Given the description of an element on the screen output the (x, y) to click on. 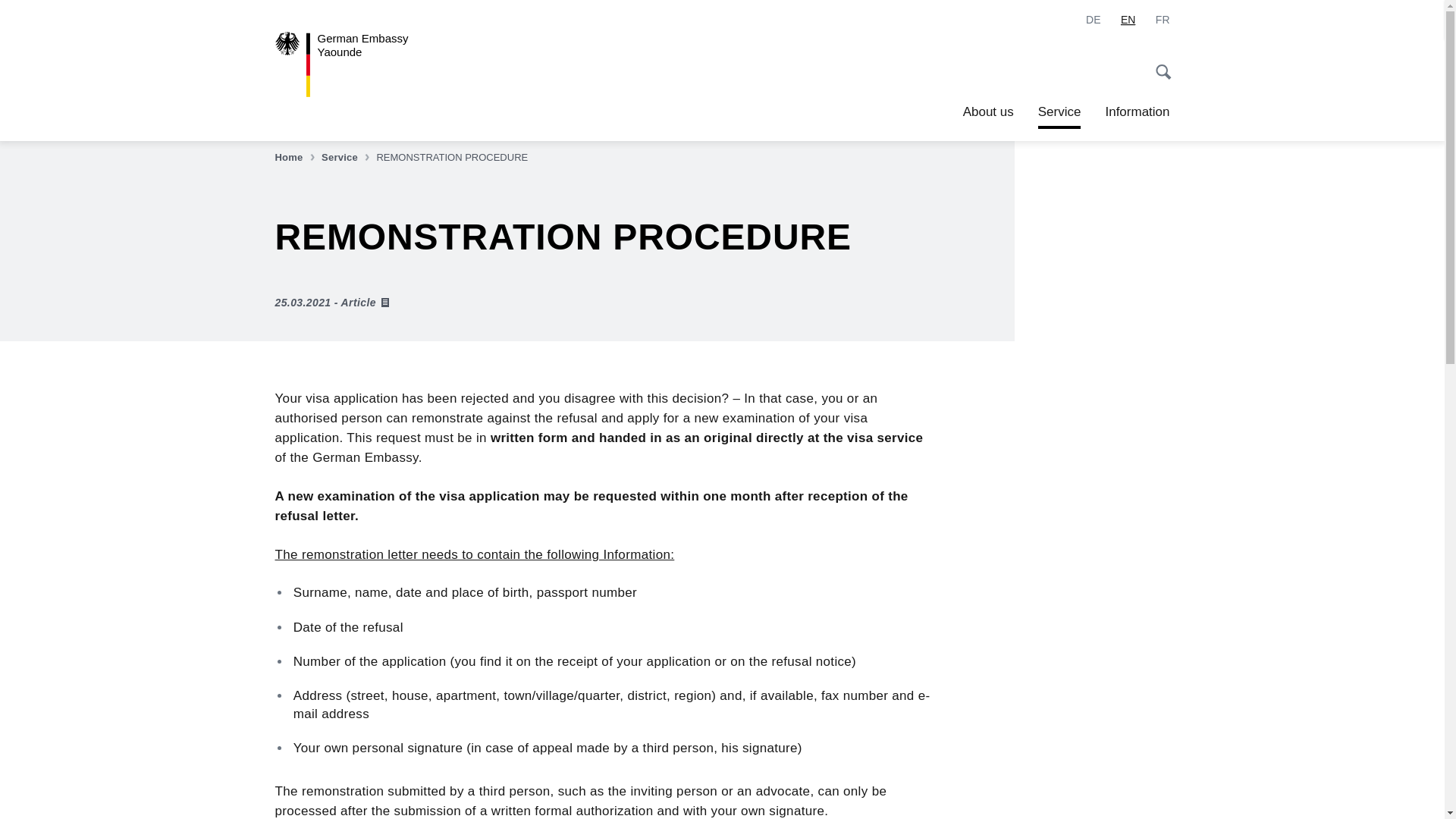
FR (1163, 20)
Home (296, 157)
Service (346, 157)
About us (363, 64)
Home (987, 111)
English (296, 157)
Information (1128, 19)
Service (1137, 111)
DE (346, 157)
Service (1093, 20)
Deutsch (1059, 111)
